Given the description of an element on the screen output the (x, y) to click on. 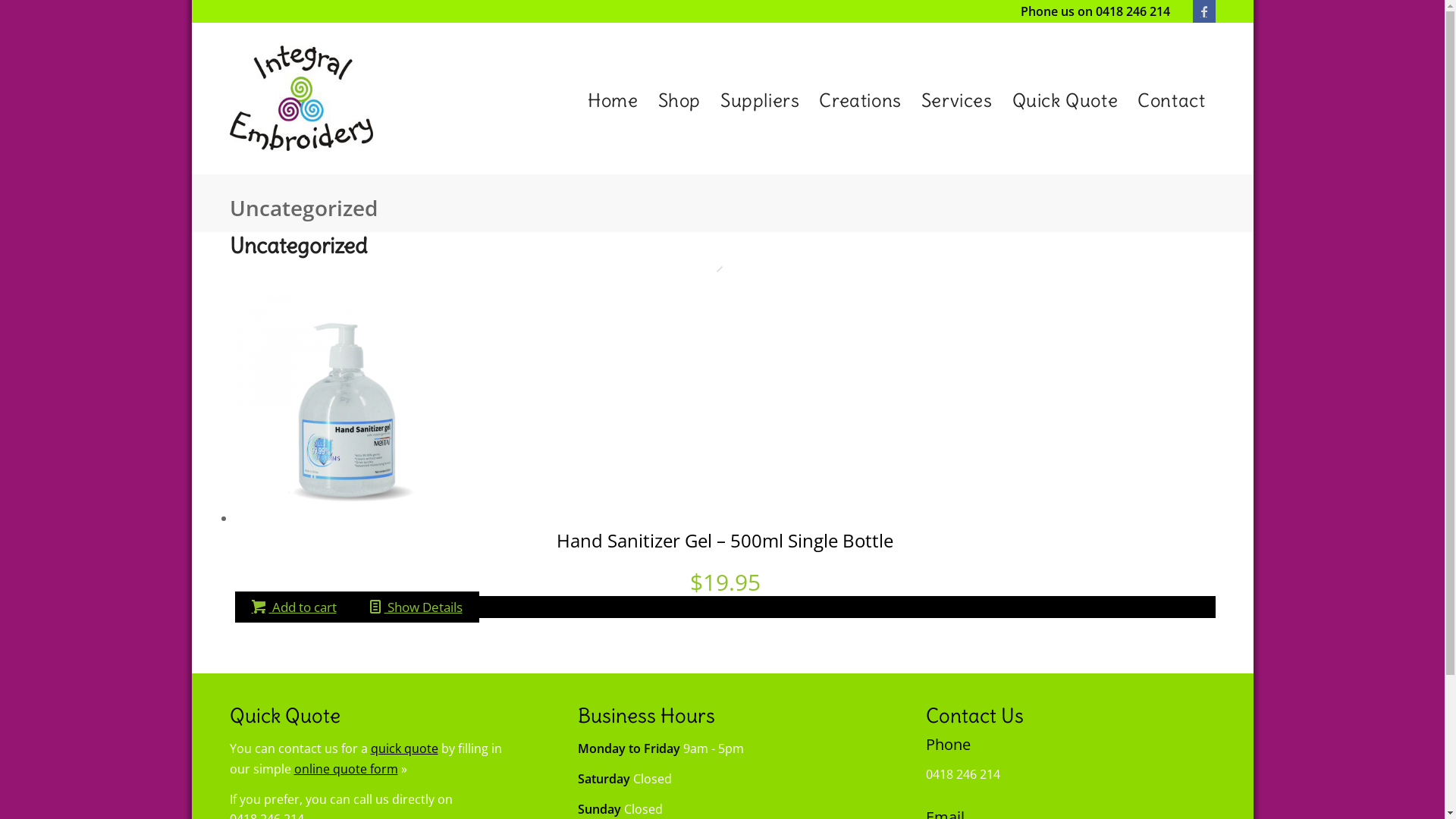
Shop Element type: text (679, 100)
online quote form Element type: text (346, 768)
Contact Element type: text (1170, 100)
Suppliers Element type: text (759, 100)
logo-integral-embroidery-20141014b Element type: hover (300, 98)
Services Element type: text (956, 100)
Show Details Element type: text (416, 606)
Add to cart Element type: text (294, 606)
Home Element type: text (612, 100)
Facebook Element type: hover (1203, 11)
quick quote Element type: text (403, 748)
Quick Quote Element type: text (1065, 100)
Creations Element type: text (859, 100)
